Given the description of an element on the screen output the (x, y) to click on. 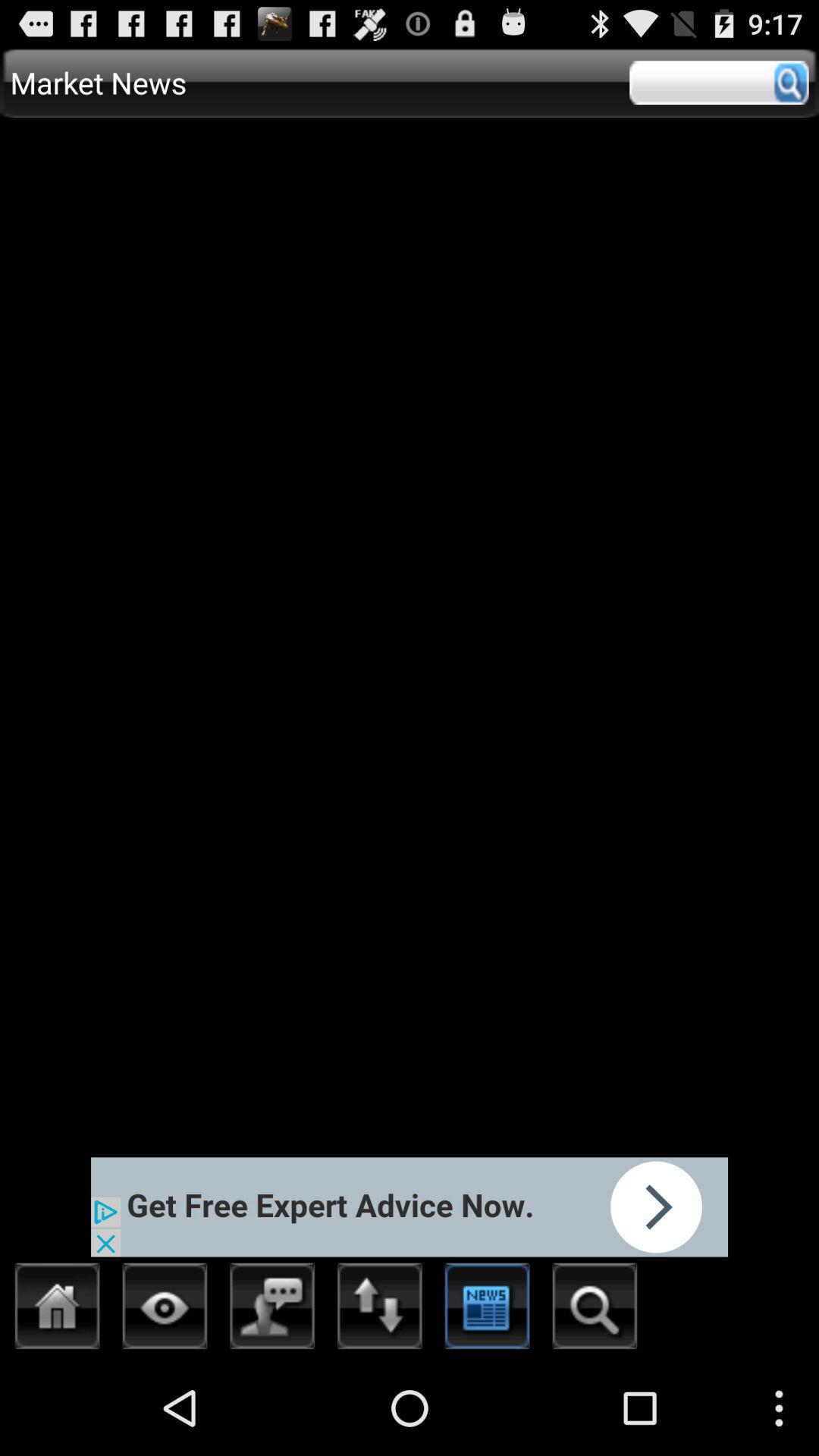
search (718, 82)
